Given the description of an element on the screen output the (x, y) to click on. 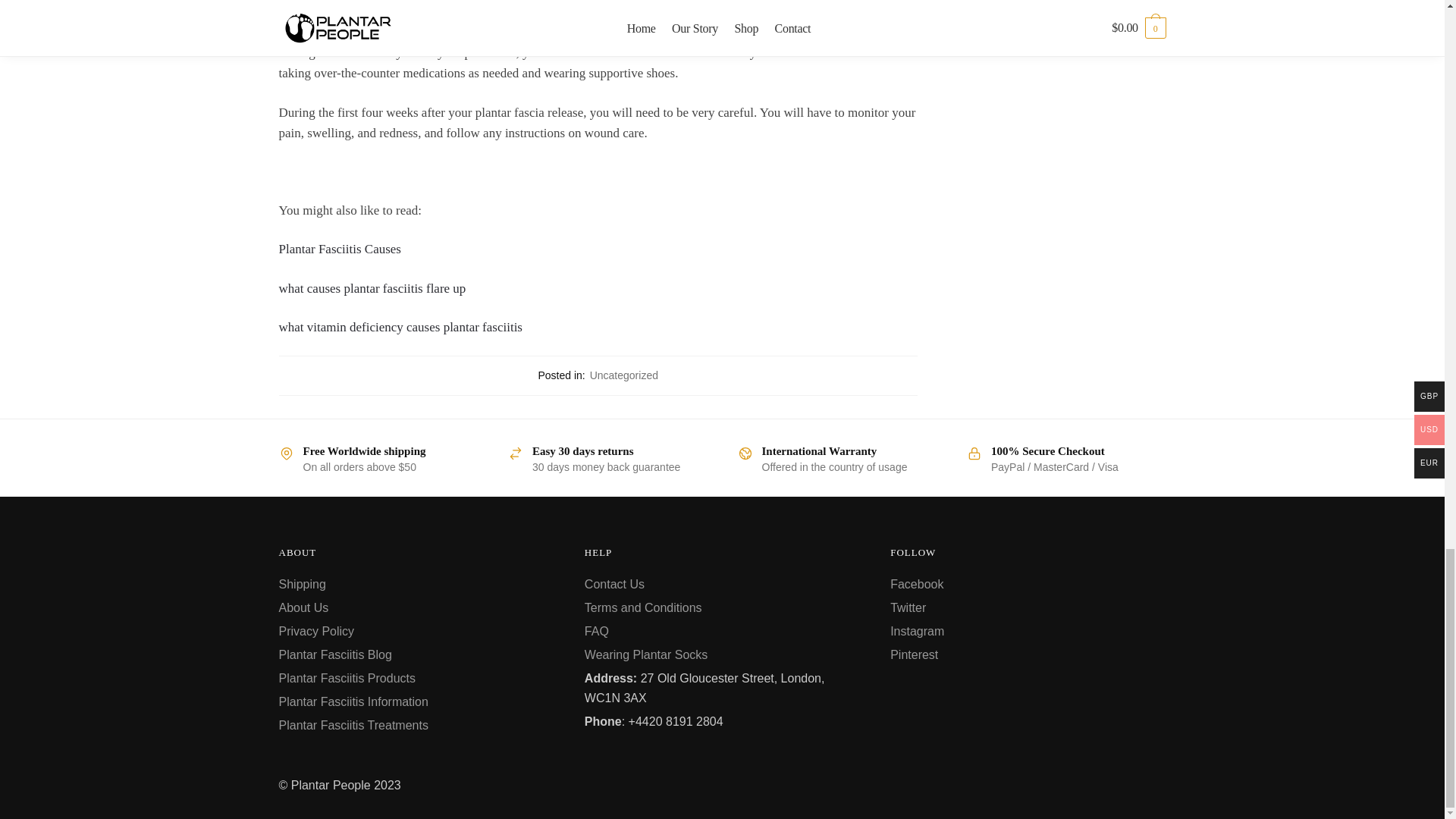
Wearing Plantar Socks (646, 654)
Plantar Fasciitis Information (353, 701)
what vitamin deficiency causes plantar fasciitis (400, 327)
Twitter (907, 607)
Contact Us (615, 584)
Plantar Fasciitis Blog (335, 654)
Plantar Fasciitis Treatments (353, 725)
Shipping (302, 584)
Pinterest (913, 654)
Facebook (916, 584)
